Given the description of an element on the screen output the (x, y) to click on. 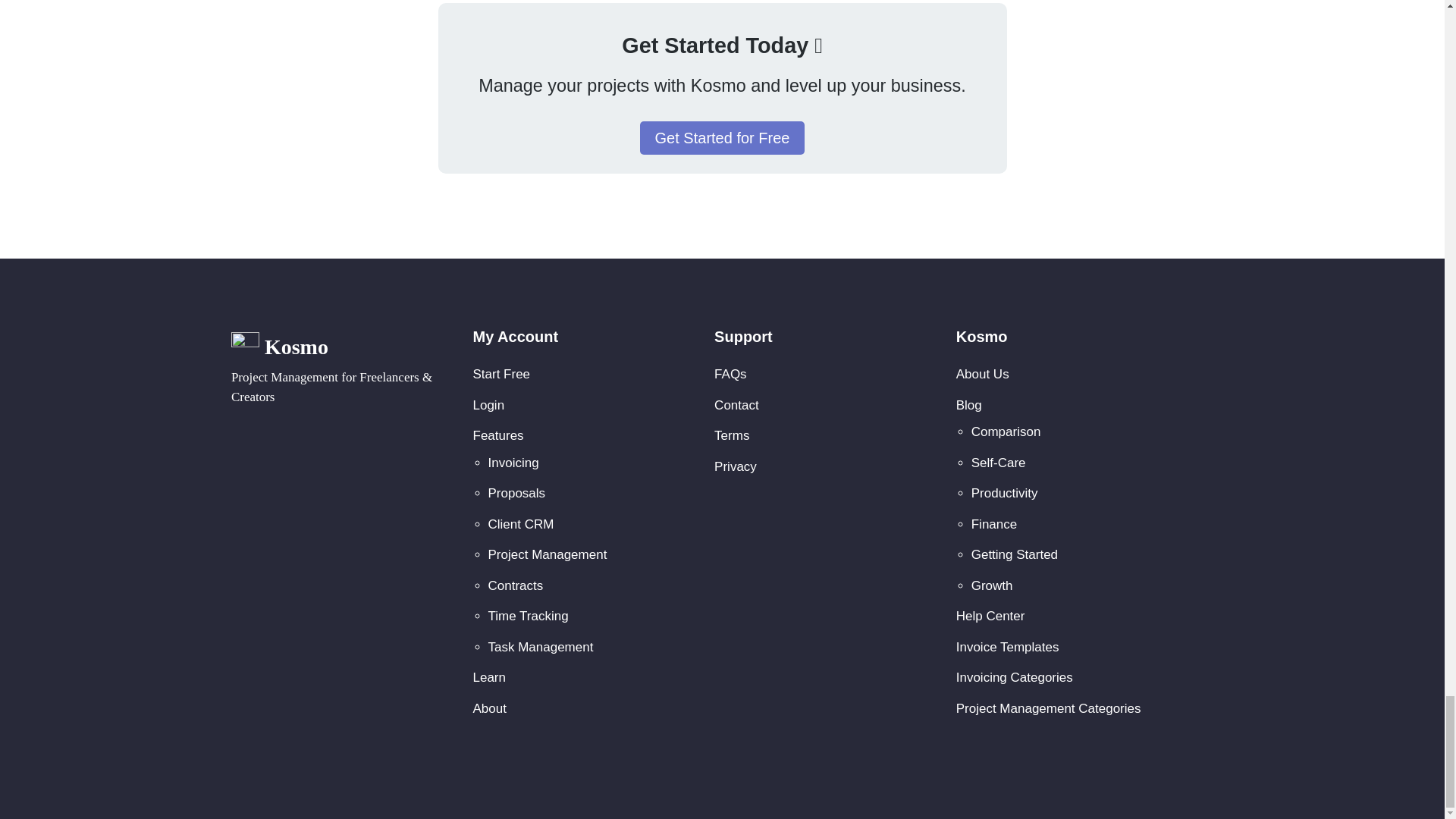
Features (498, 435)
Start Free (502, 373)
Login (489, 405)
Get Started for Free (722, 137)
